Given the description of an element on the screen output the (x, y) to click on. 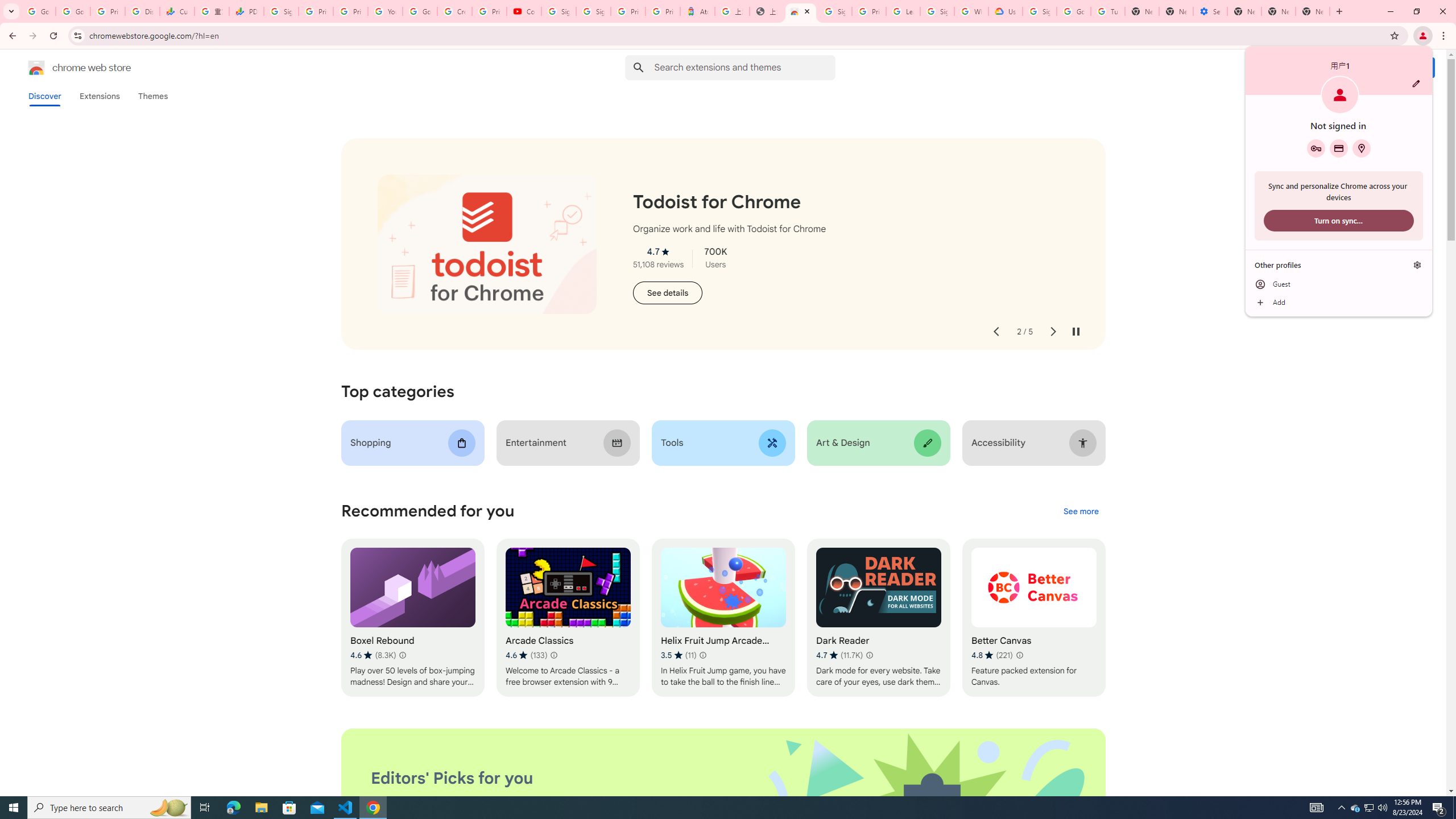
Currencies - Google Finance (176, 11)
Addresses and more (1361, 148)
Show desktop (1355, 807)
Average rating 3.5 out of 5 stars. 11 ratings. (1454, 807)
Running applications (679, 655)
Learn more about results and reviews "Boxel Rebound" (717, 807)
Add (1368, 807)
Average rating 4.6 out of 5 stars. 133 ratings. (402, 655)
User Promoted Notification Area (1338, 302)
